Given the description of an element on the screen output the (x, y) to click on. 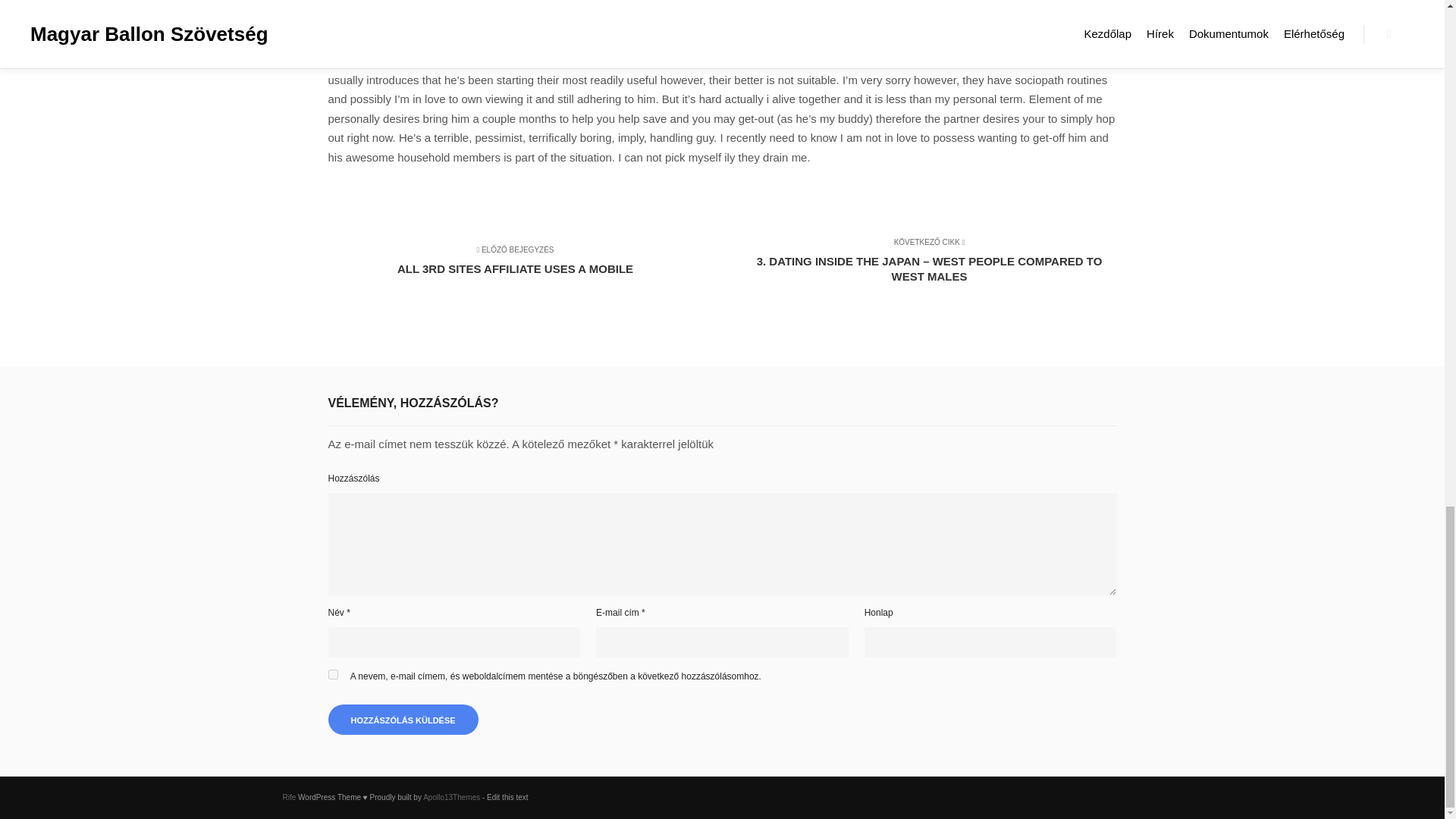
yes (332, 674)
Rife (288, 797)
Apollo13Themes (451, 797)
